Given the description of an element on the screen output the (x, y) to click on. 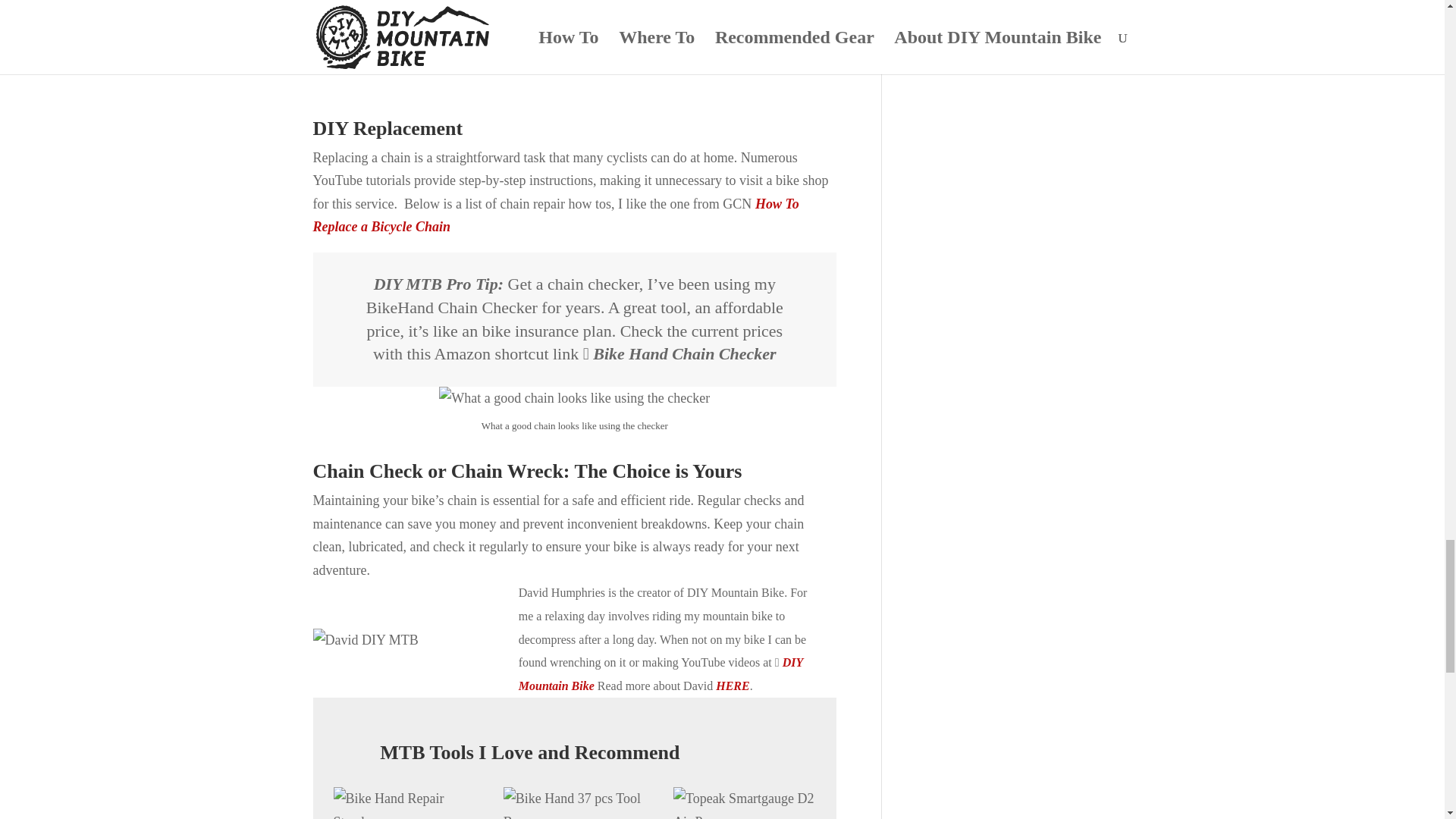
HERE (732, 685)
DIY Mountain Bike (660, 674)
How To Replace a Bicycle Chain (555, 215)
